Given the description of an element on the screen output the (x, y) to click on. 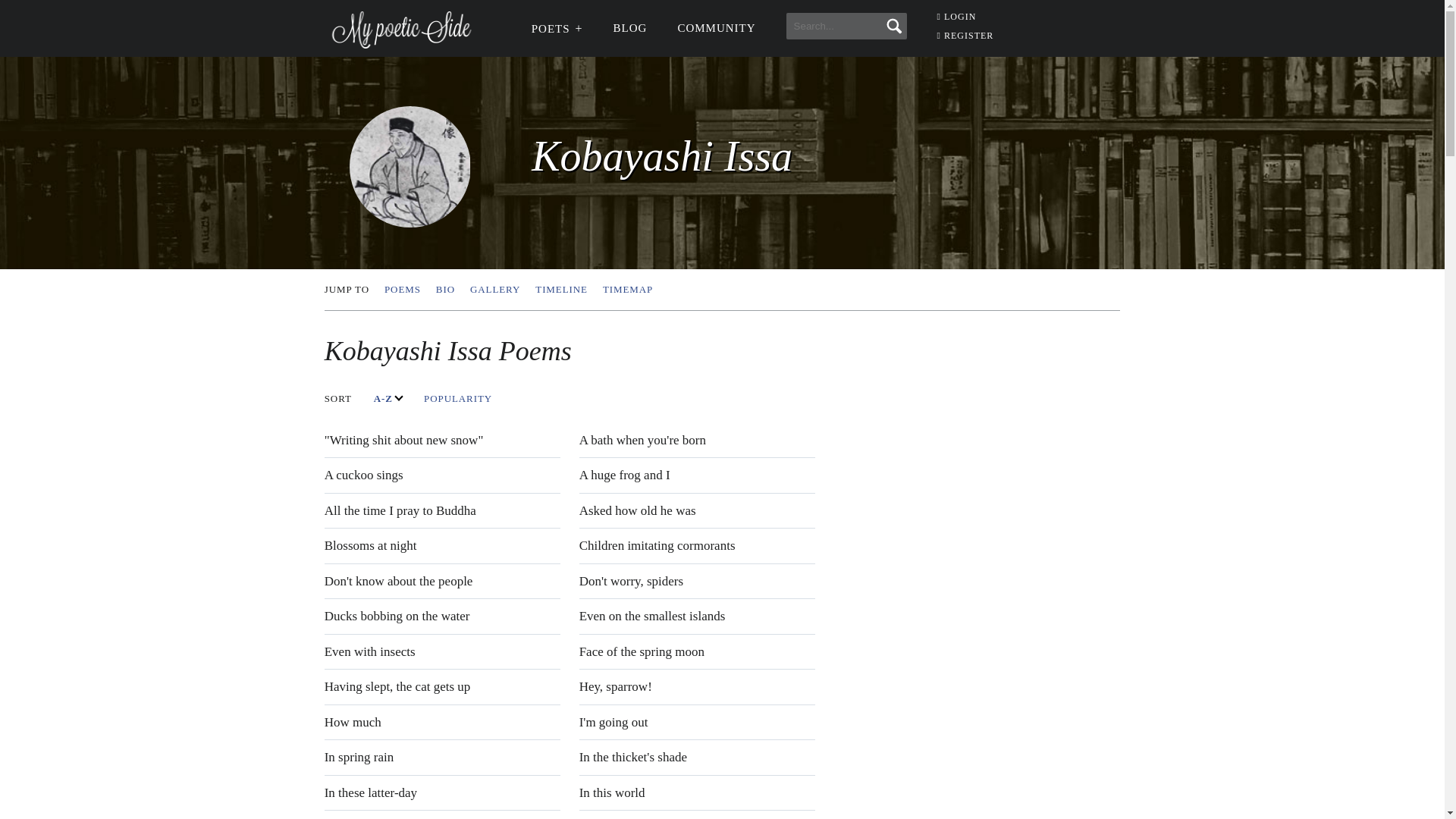
SORT (722, 289)
JUMP TO (338, 398)
A-Z (346, 289)
TIMELINE (387, 398)
POEMS (561, 289)
GALLERY (402, 289)
 LOGIN (494, 289)
BIO (956, 16)
POPULARITY (444, 289)
